Given the description of an element on the screen output the (x, y) to click on. 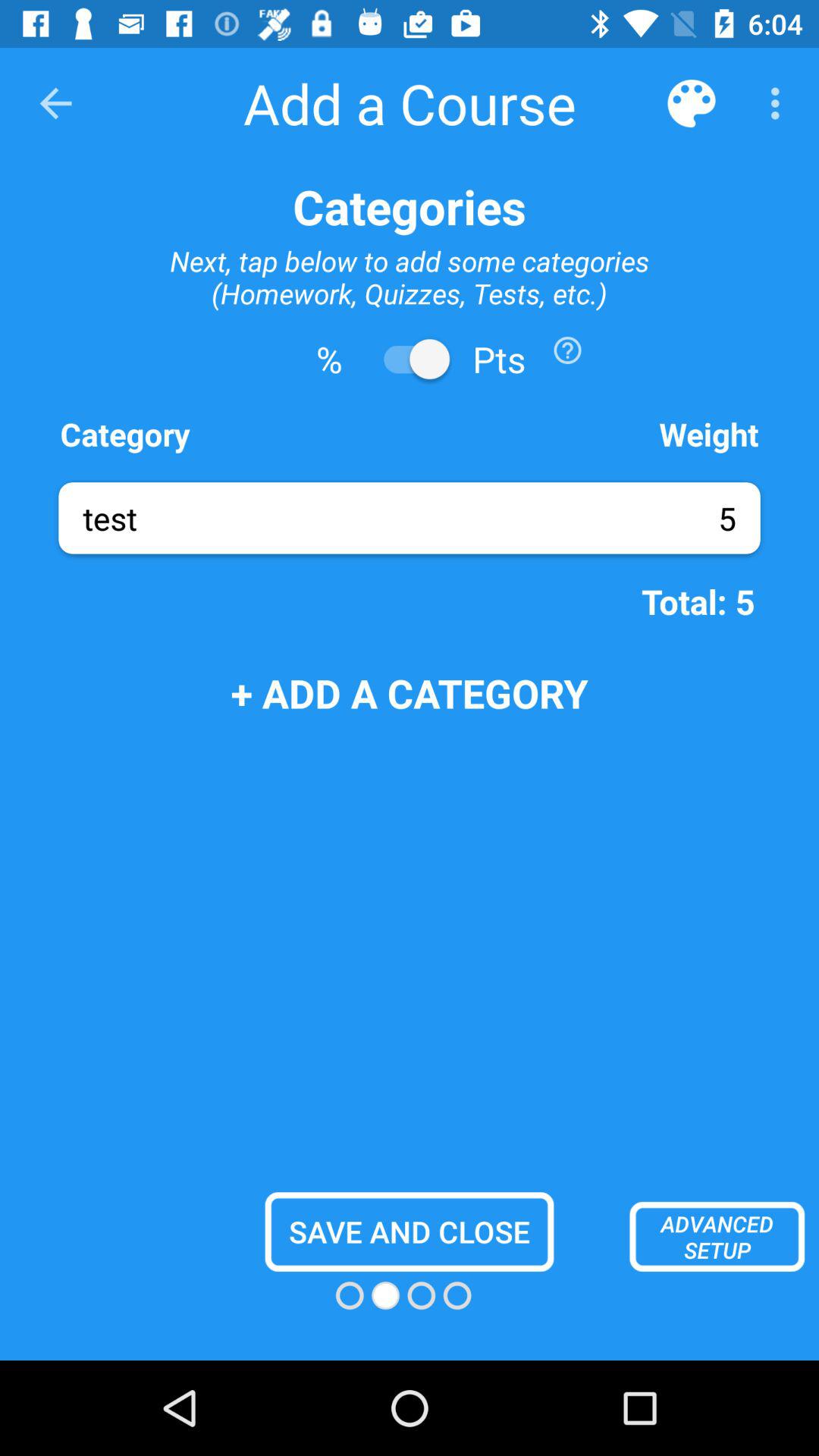
turn off the advanced
setup item (716, 1236)
